Given the description of an element on the screen output the (x, y) to click on. 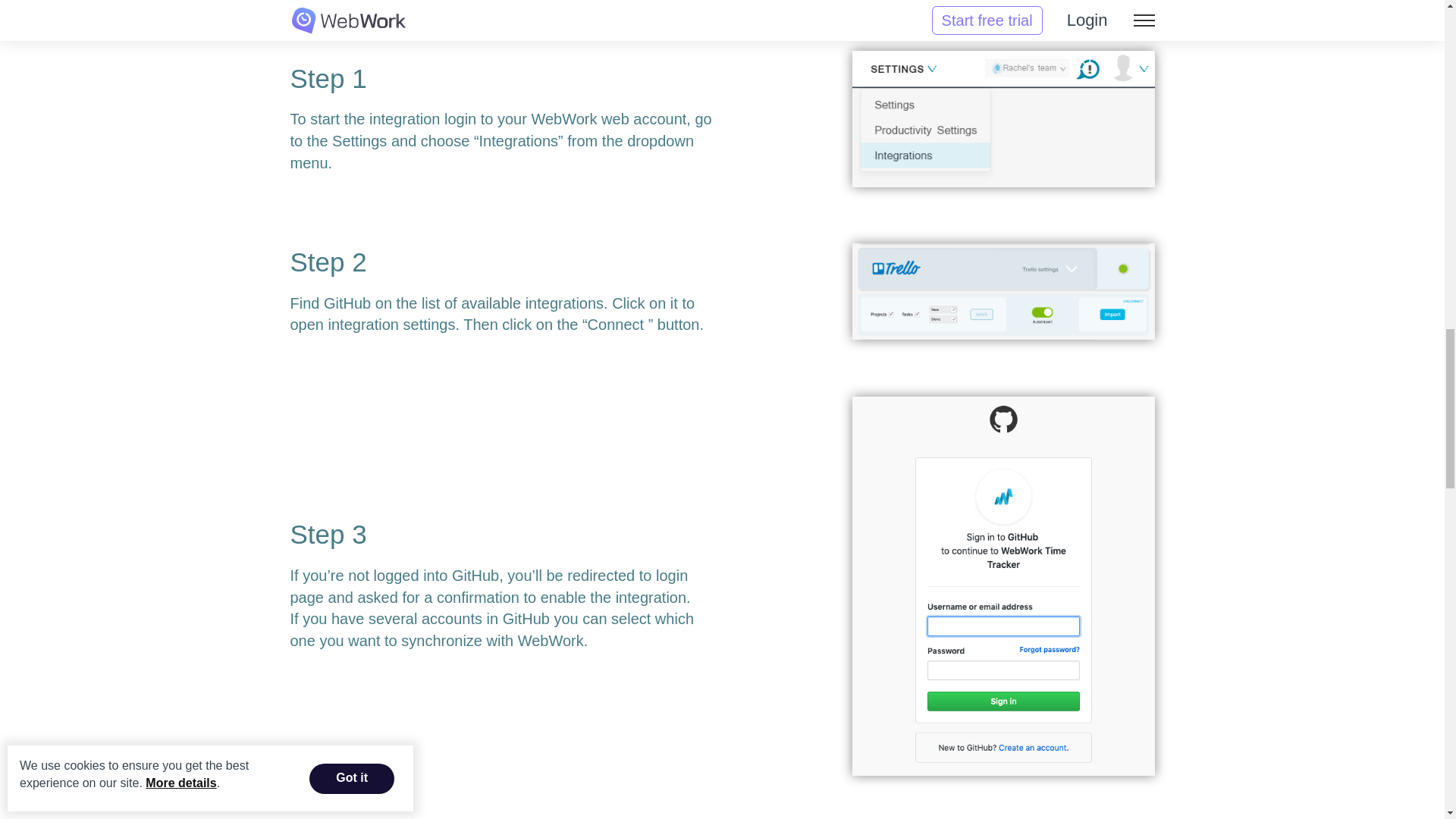
Connect to GitHub integration (1002, 291)
WebWork integrations (1002, 118)
